Given the description of an element on the screen output the (x, y) to click on. 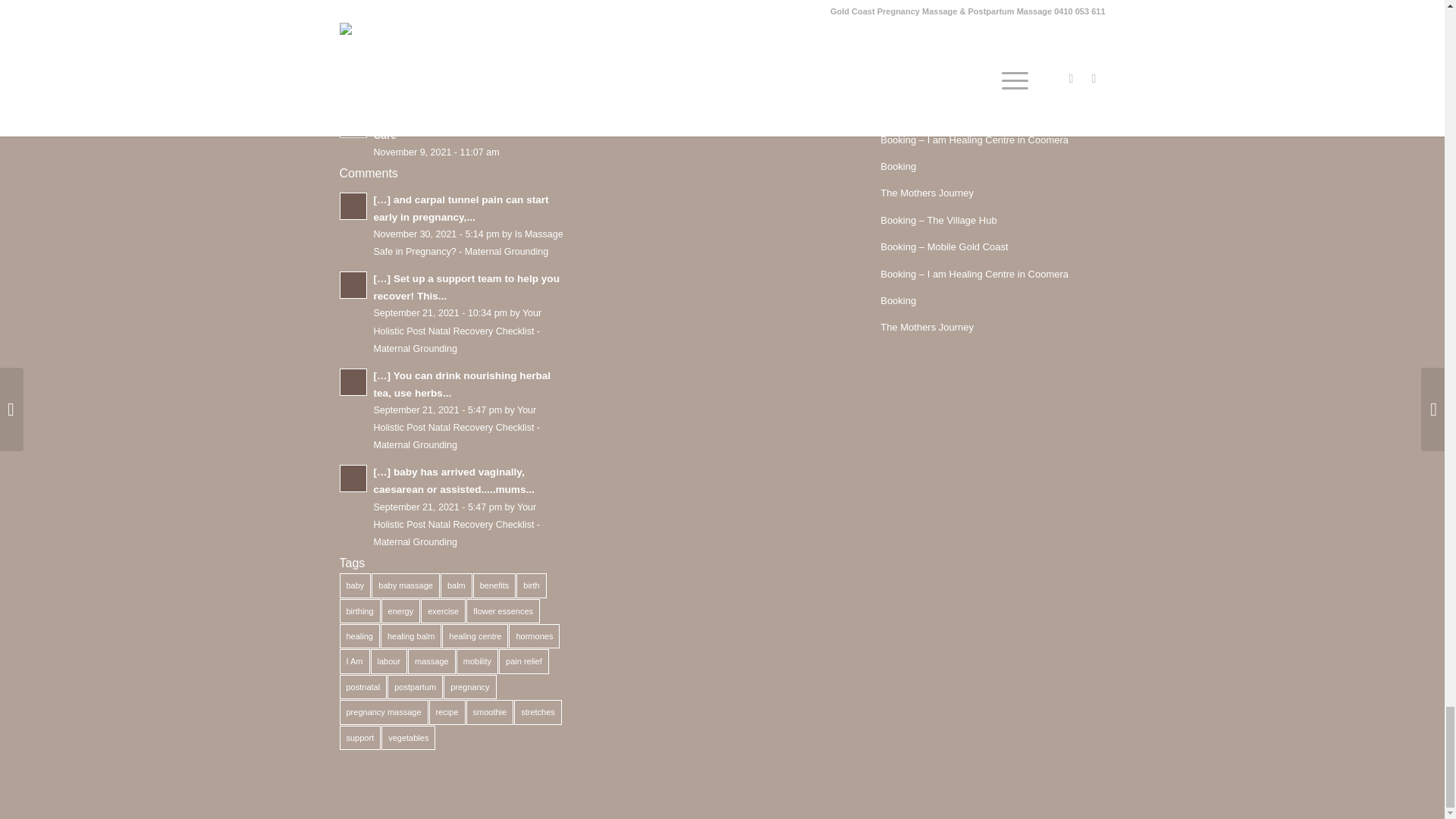
How to Relieve Carpal Tunnel Syndrome During Pregnancy (451, 225)
The Importance of Rest in Postpartum Care (451, 81)
Is Massage Safe in Pregnancy? (451, 134)
The Importance of Postpartum Care and Support (451, 81)
The Importance of Postpartum Care and Support (451, 506)
